Given the description of an element on the screen output the (x, y) to click on. 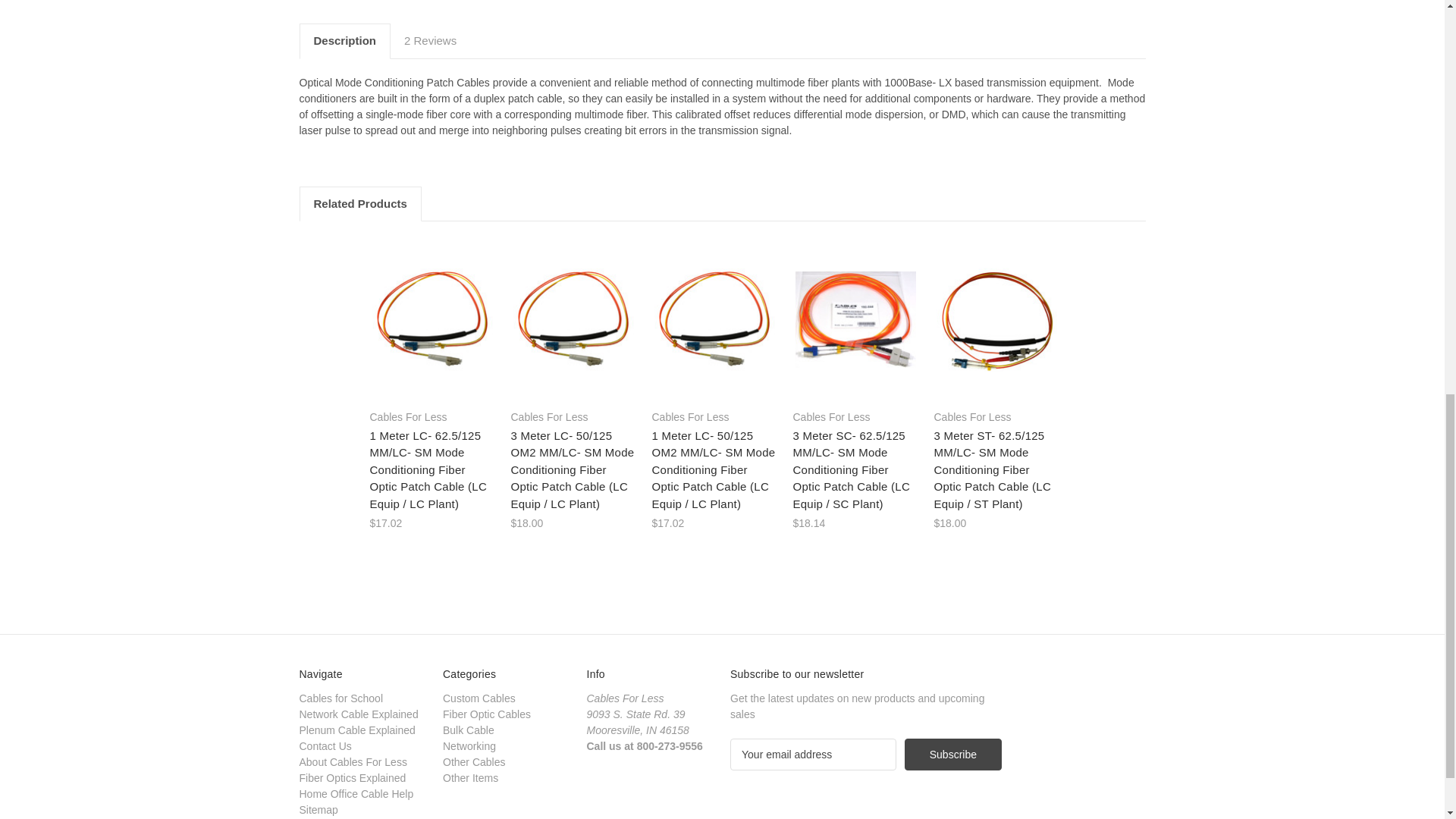
3 Meter Mode Conditioning Fiber (854, 319)
Subscribe (952, 754)
